Given the description of an element on the screen output the (x, y) to click on. 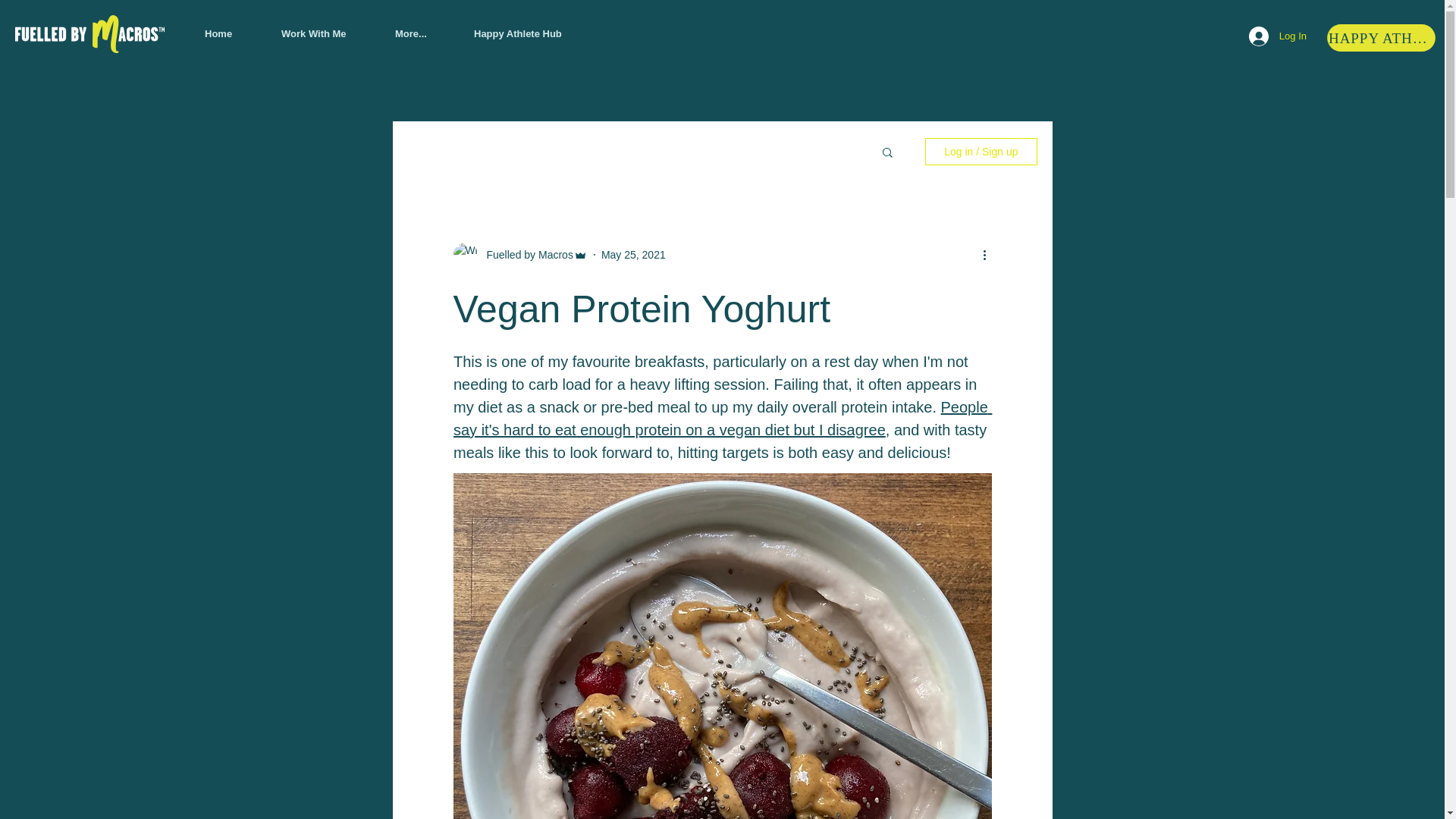
Work With Me (326, 34)
HAPPY ATHLETE (1382, 38)
Fuelled by Macros (520, 254)
Happy Athlete Hub (533, 34)
Fuelled by Macros (525, 254)
May 25, 2021 (633, 254)
Home (231, 34)
Log In (1278, 36)
